Given the description of an element on the screen output the (x, y) to click on. 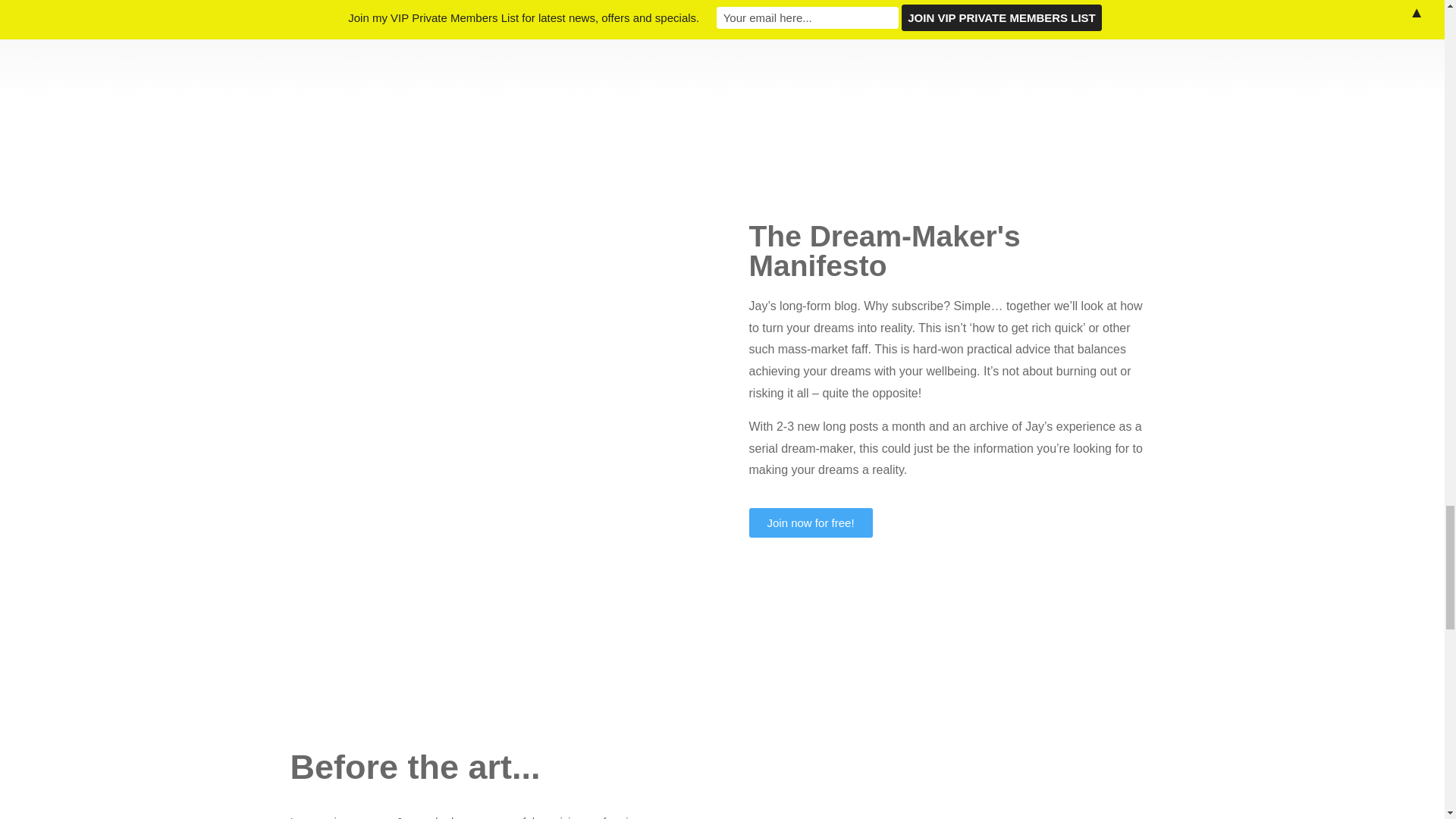
Join now for free! (810, 522)
